Given the description of an element on the screen output the (x, y) to click on. 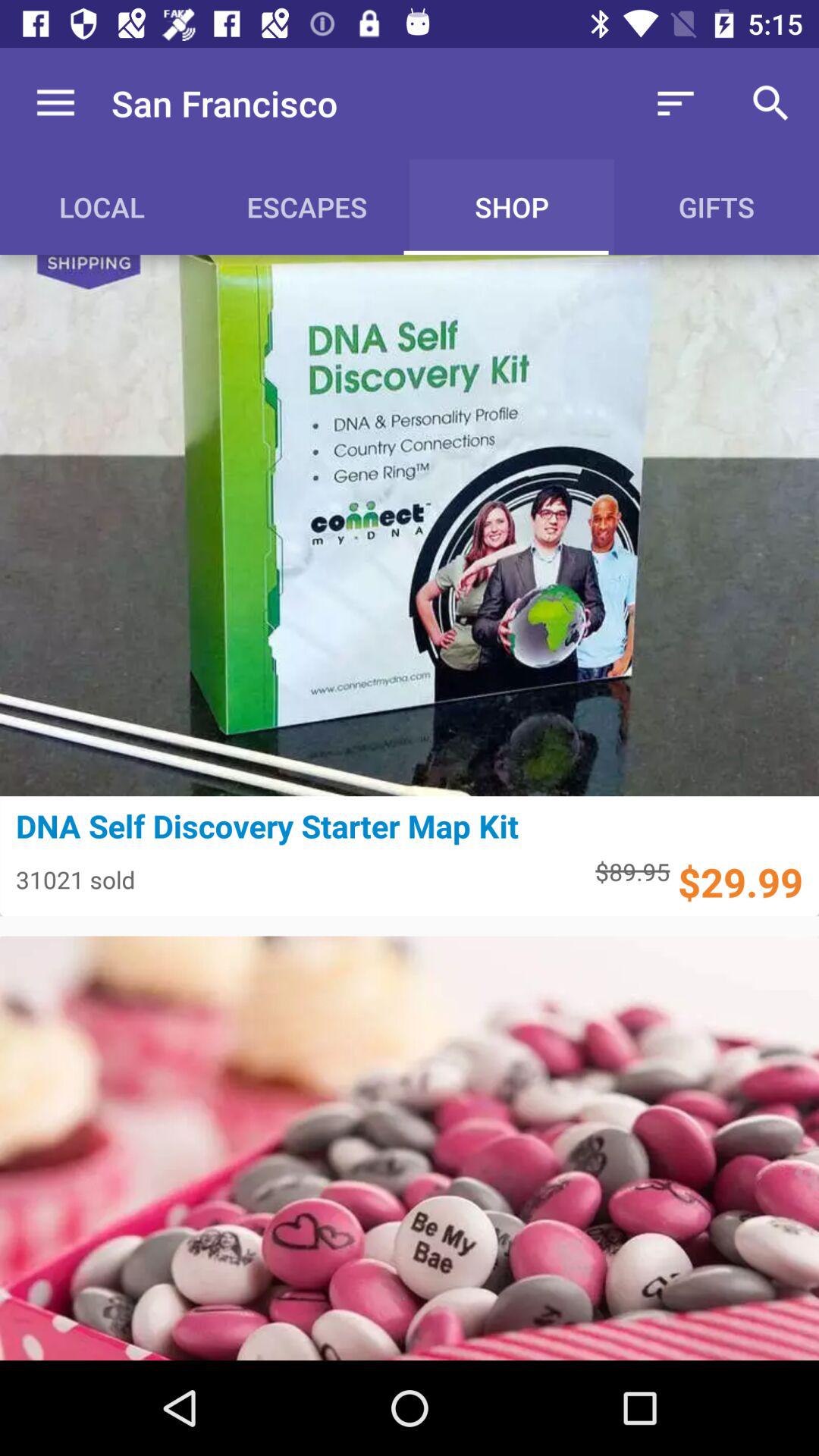
tap the item to the left of the san francisco icon (55, 103)
